Given the description of an element on the screen output the (x, y) to click on. 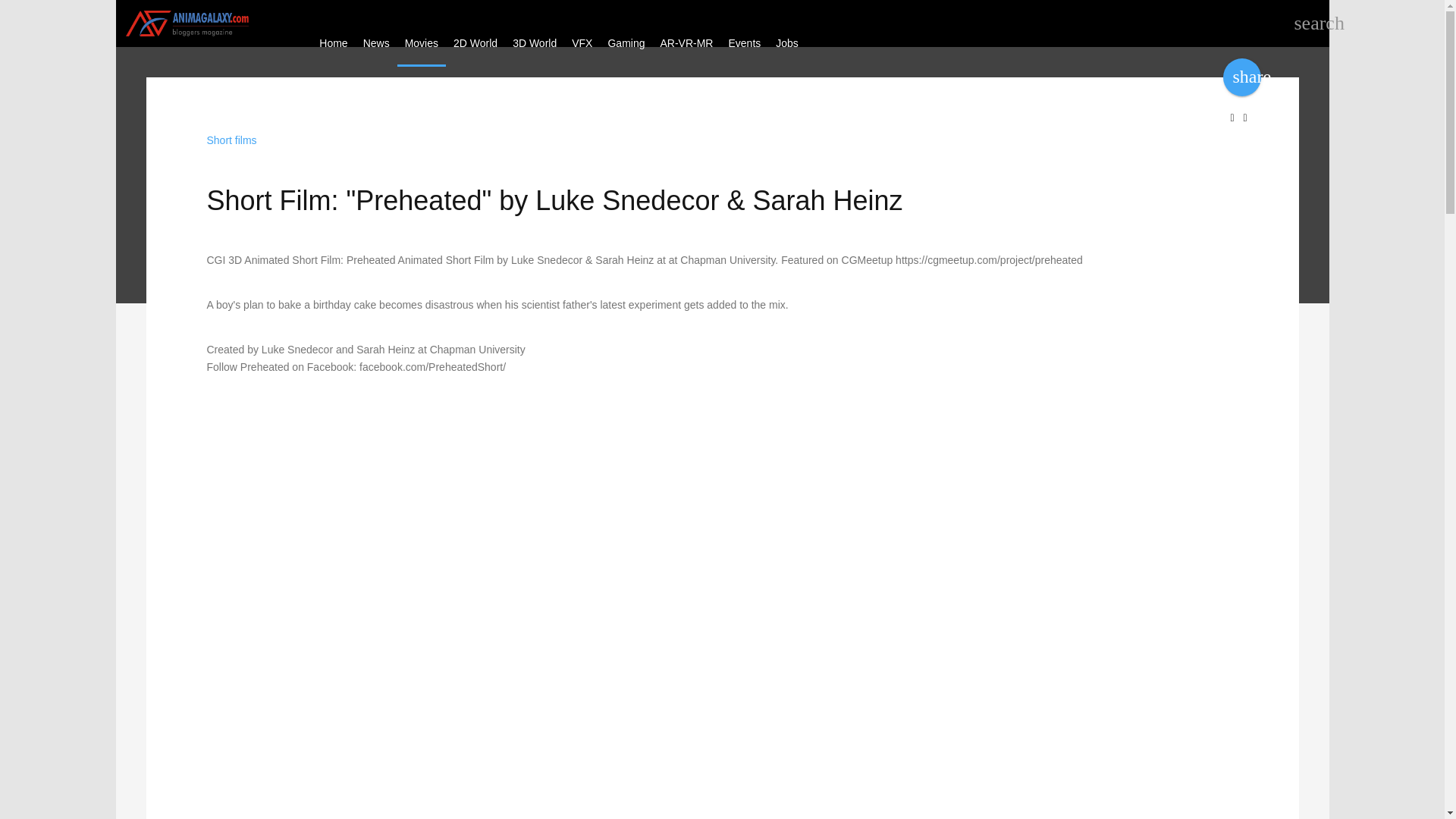
AR-VR-MR (686, 42)
Gaming (625, 42)
Short films (231, 140)
3D World (534, 42)
2D World (475, 42)
 Home Menu Item (333, 42)
Home (333, 42)
Movies (421, 42)
Events (744, 42)
